Given the description of an element on the screen output the (x, y) to click on. 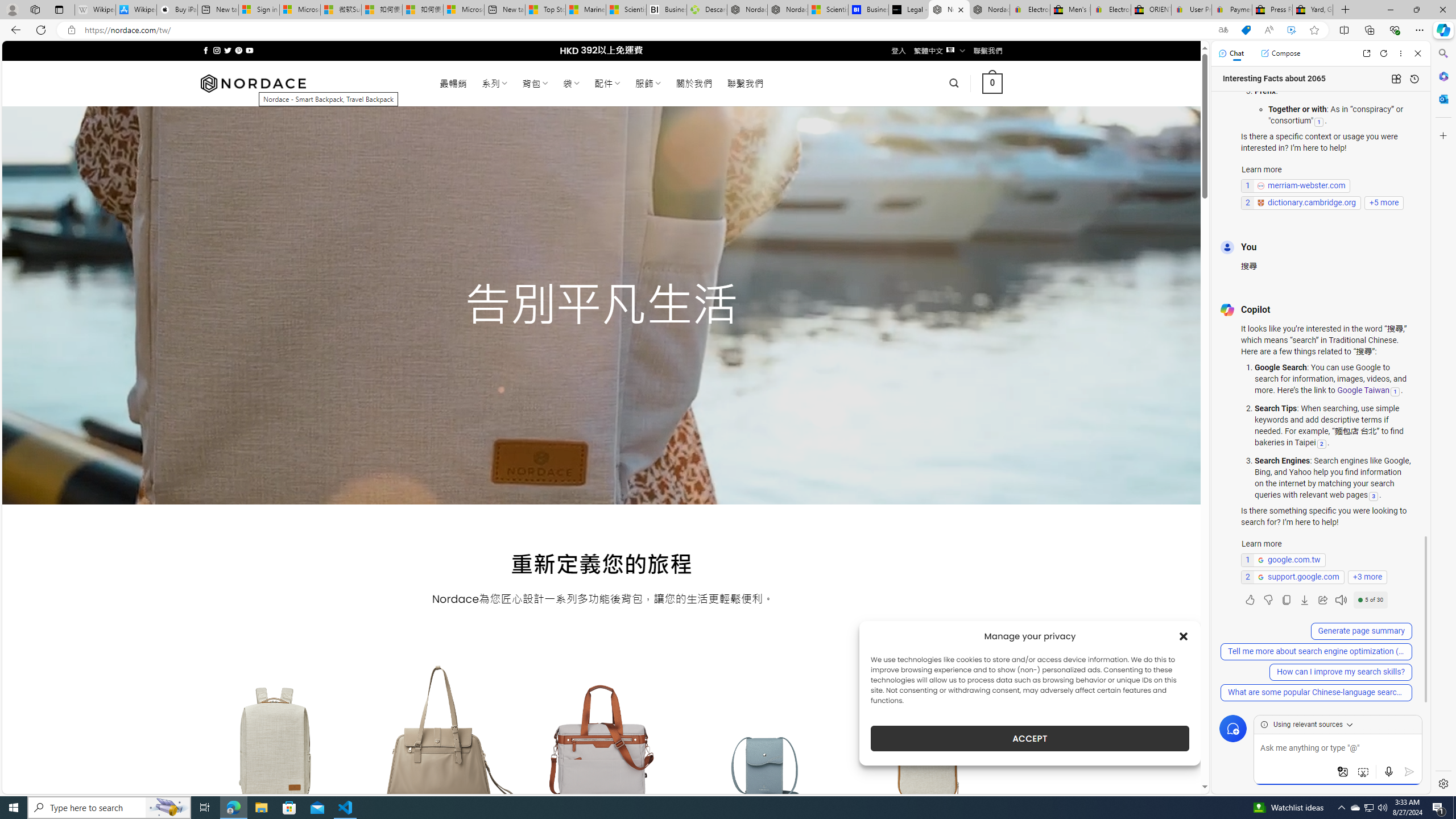
Follow on Twitter (227, 50)
  0   (992, 83)
